Given the description of an element on the screen output the (x, y) to click on. 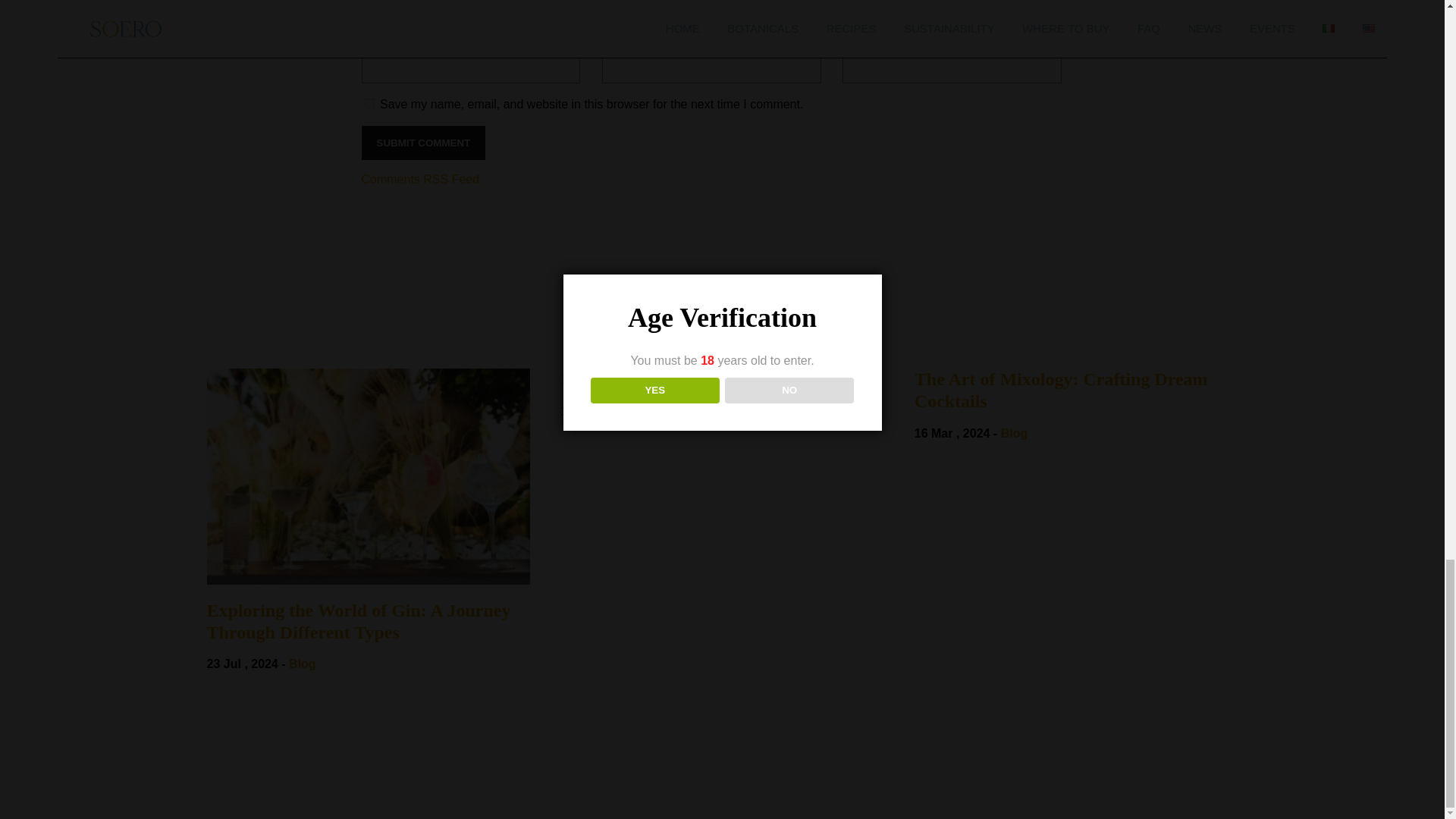
Blog (660, 410)
Submit Comment (422, 142)
yes (369, 103)
Blog (1014, 432)
Exploring the Roots of Gin (721, 379)
The Art of Mixology: Crafting Dream Cocktails (1076, 390)
Comments RSS Feed (420, 178)
Blog (301, 663)
Submit Comment (422, 142)
